Given the description of an element on the screen output the (x, y) to click on. 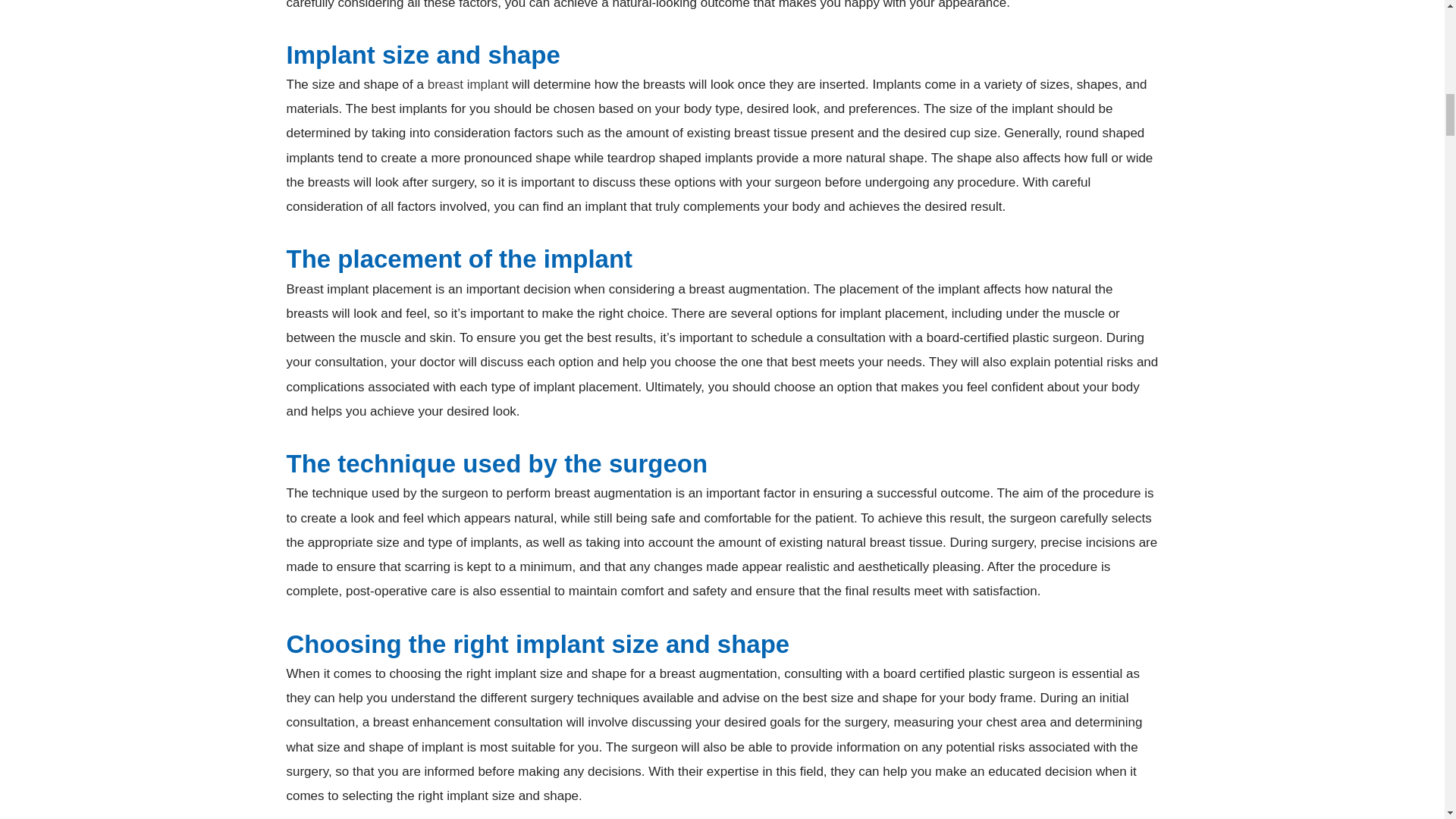
breast implant (468, 83)
